Given the description of an element on the screen output the (x, y) to click on. 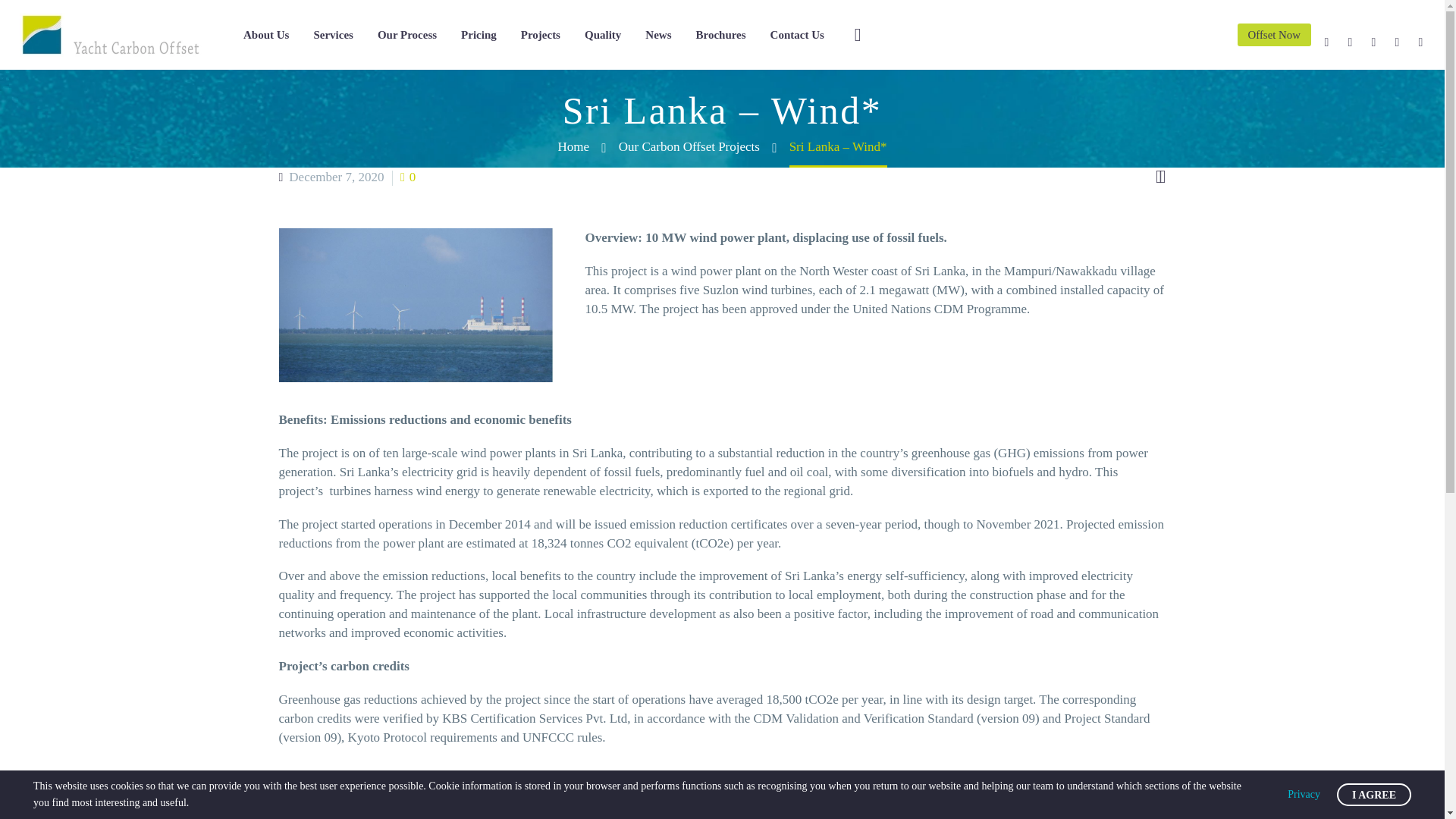
Capture (416, 305)
Pricing (478, 34)
Instagram (1374, 42)
LinkedIn (1349, 42)
Our Process (406, 34)
Projects (540, 34)
Services (333, 34)
Facebook (1326, 42)
About Us (266, 34)
